Given the description of an element on the screen output the (x, y) to click on. 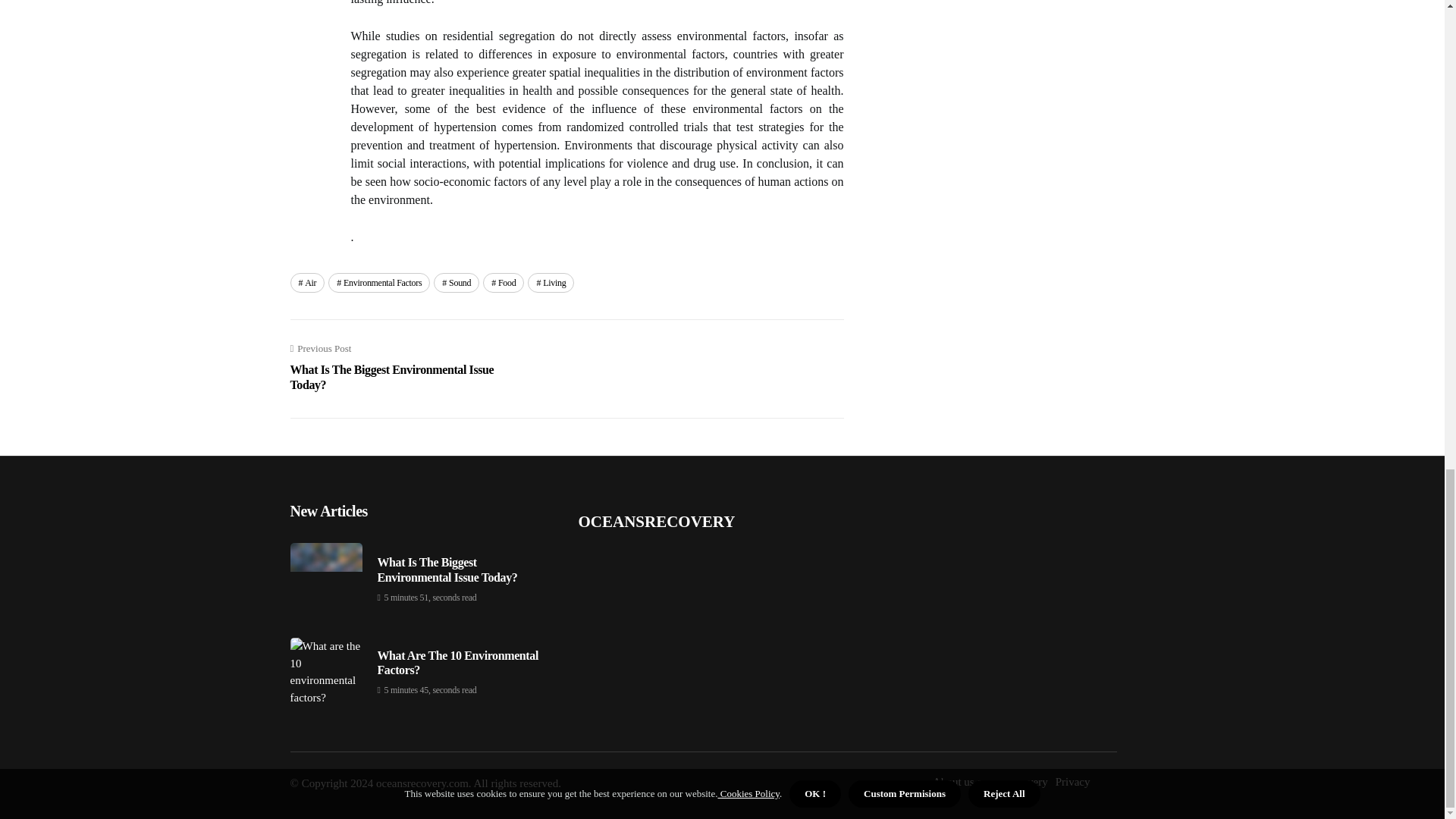
Living (400, 368)
Food (550, 282)
Sound (503, 282)
Environmental Factors (456, 282)
Air (379, 282)
